Given the description of an element on the screen output the (x, y) to click on. 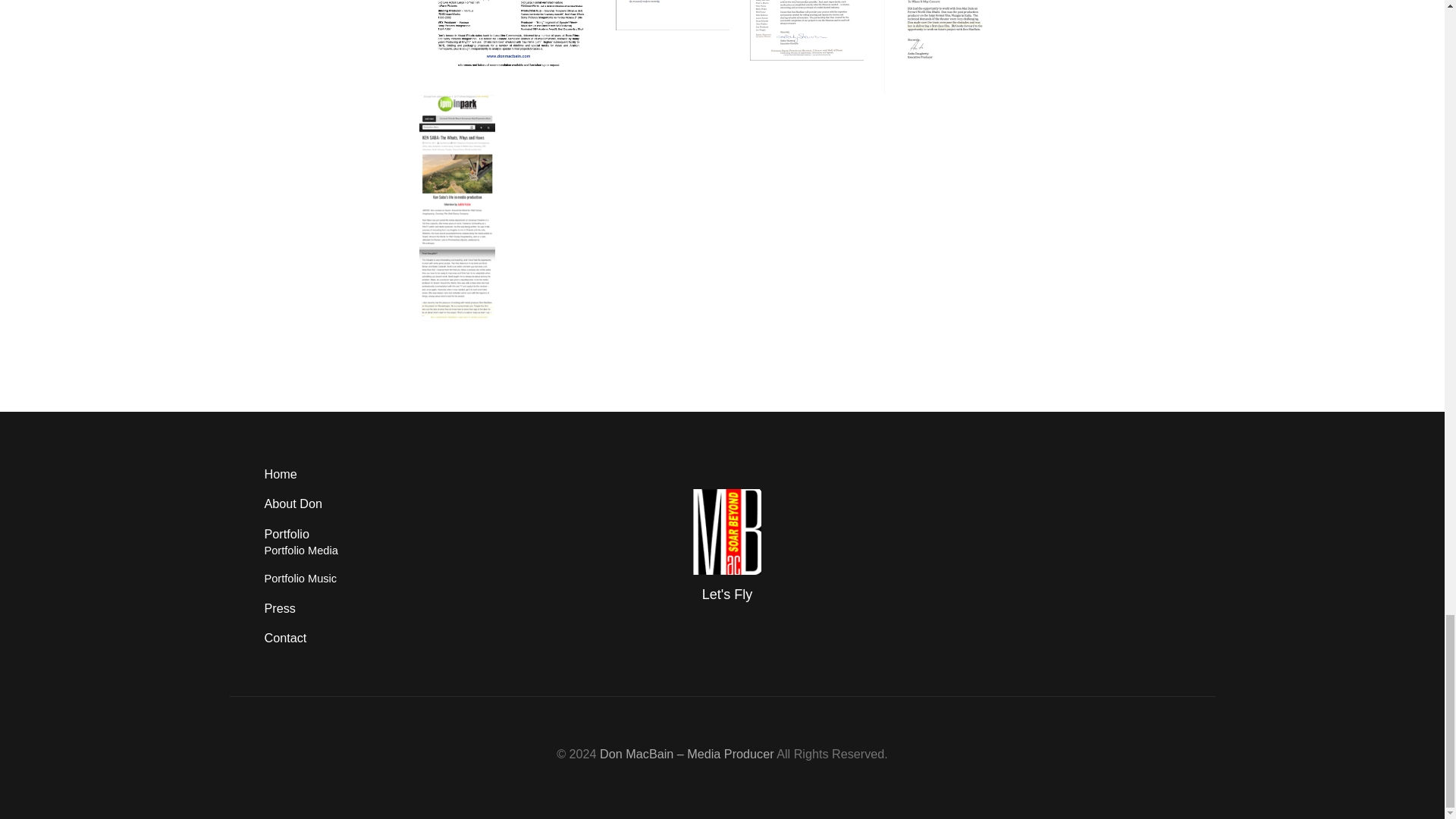
Contact (284, 637)
Press (279, 608)
Portfolio Media (300, 550)
Portfolio Music (299, 578)
Portfolio (285, 533)
Home (280, 473)
About Don (292, 503)
